Given the description of an element on the screen output the (x, y) to click on. 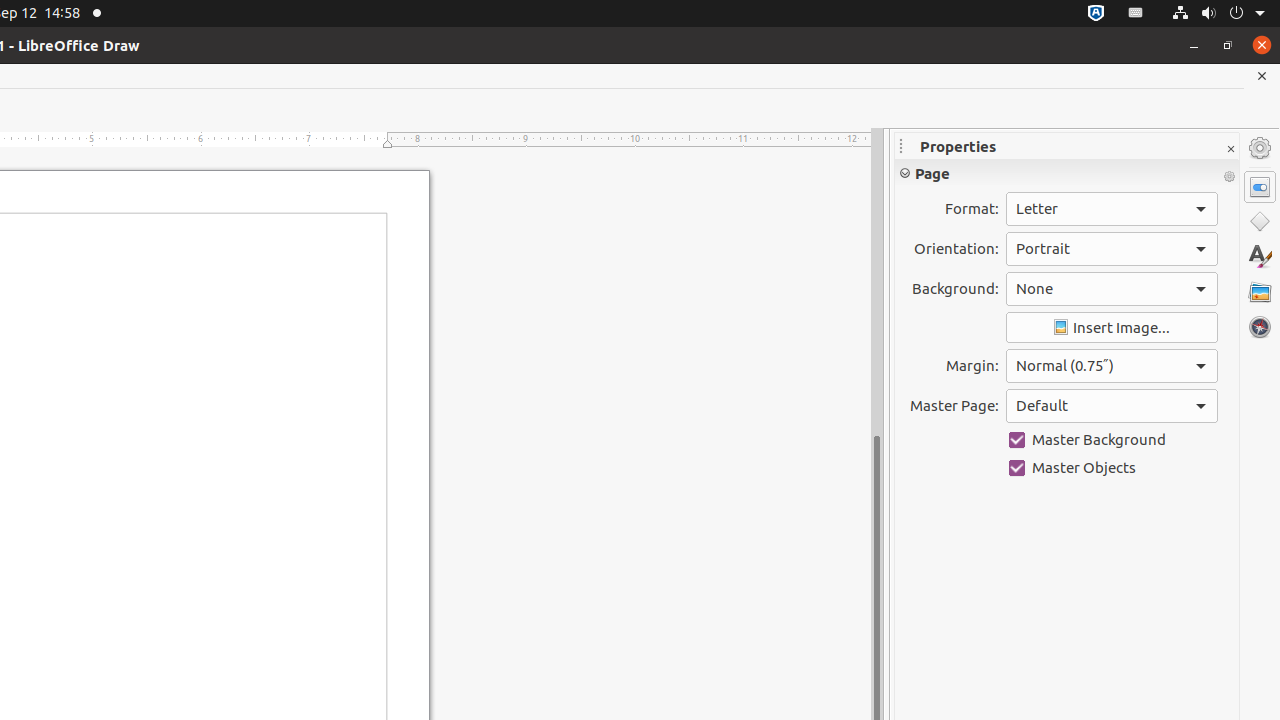
:1.72/StatusNotifierItem Element type: menu (1096, 13)
Format: Element type: combo-box (1112, 209)
Close Sidebar Deck Element type: push-button (1230, 149)
Styles Element type: radio-button (1260, 256)
Navigator Element type: radio-button (1260, 327)
